Given the description of an element on the screen output the (x, y) to click on. 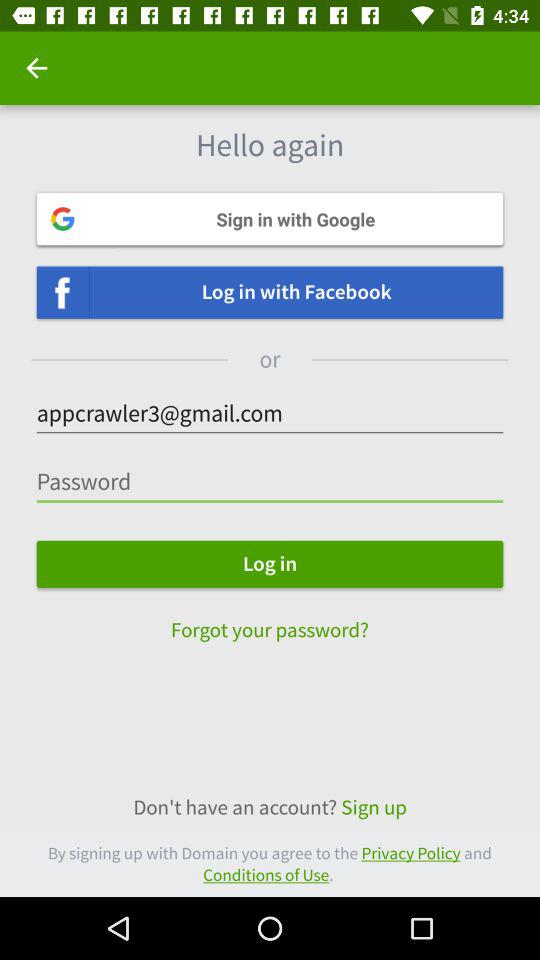
press item above by signing up icon (269, 807)
